Given the description of an element on the screen output the (x, y) to click on. 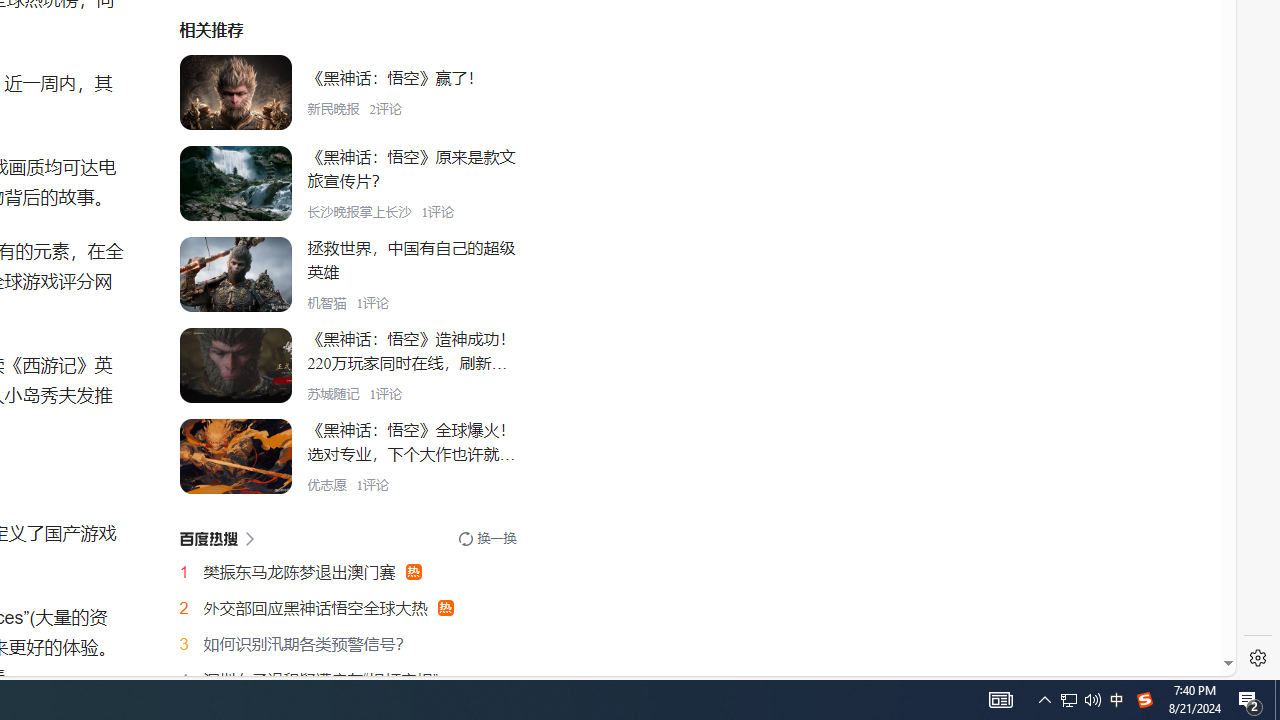
Class: YHR87 (216, 538)
